Given the description of an element on the screen output the (x, y) to click on. 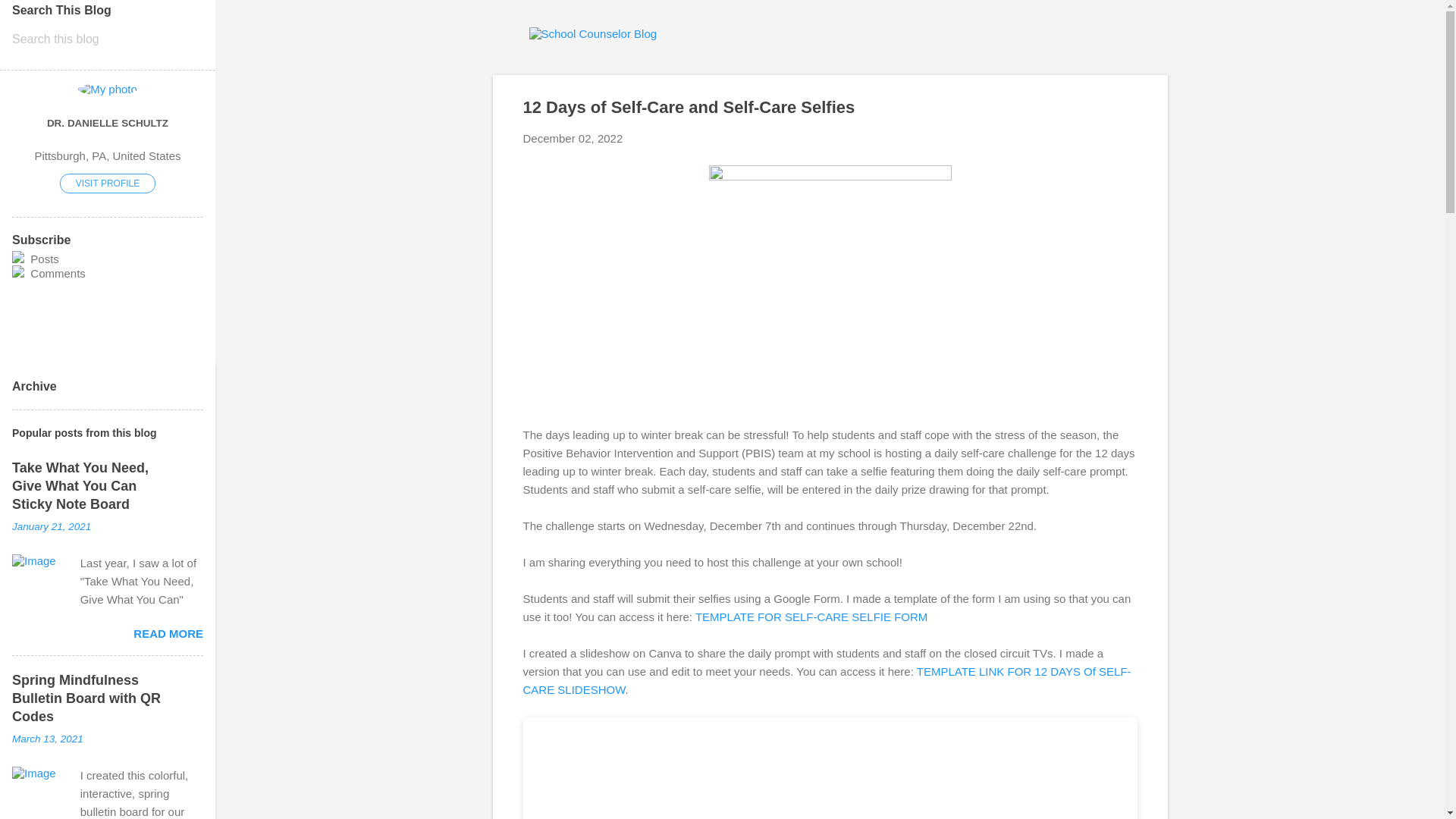
TEMPLATE FOR SELF-CARE SELFIE FORM (811, 615)
permanent link (572, 137)
Search (29, 18)
TEMPLATE LINK FOR 12 DAYS Of SELF-CARE SLIDESHOW (826, 679)
December 02, 2022 (572, 137)
